Given the description of an element on the screen output the (x, y) to click on. 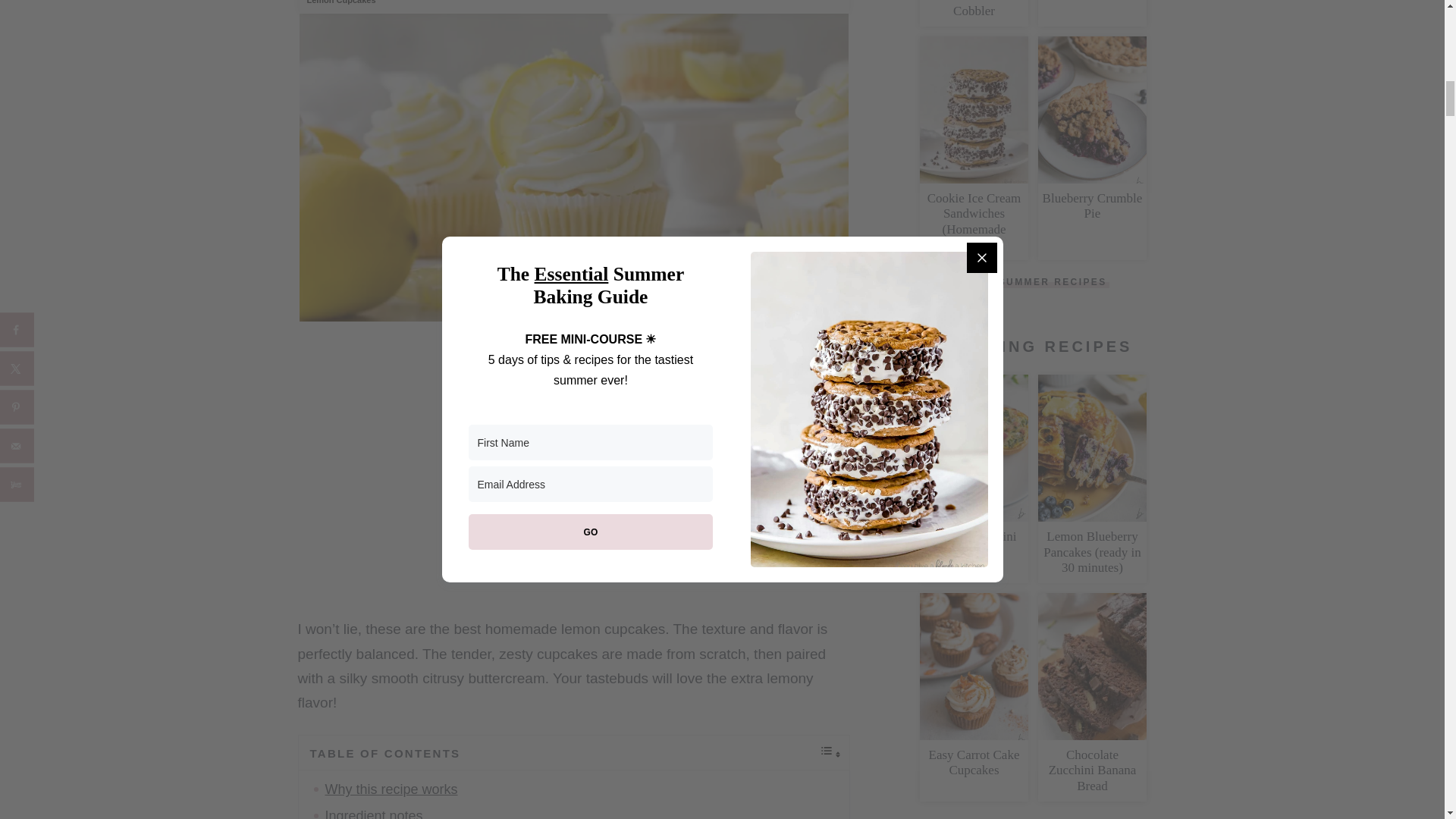
Why this recipe works (390, 789)
Ingredient notes (373, 813)
Ingredient notes (373, 813)
Why this recipe works (390, 789)
